Given the description of an element on the screen output the (x, y) to click on. 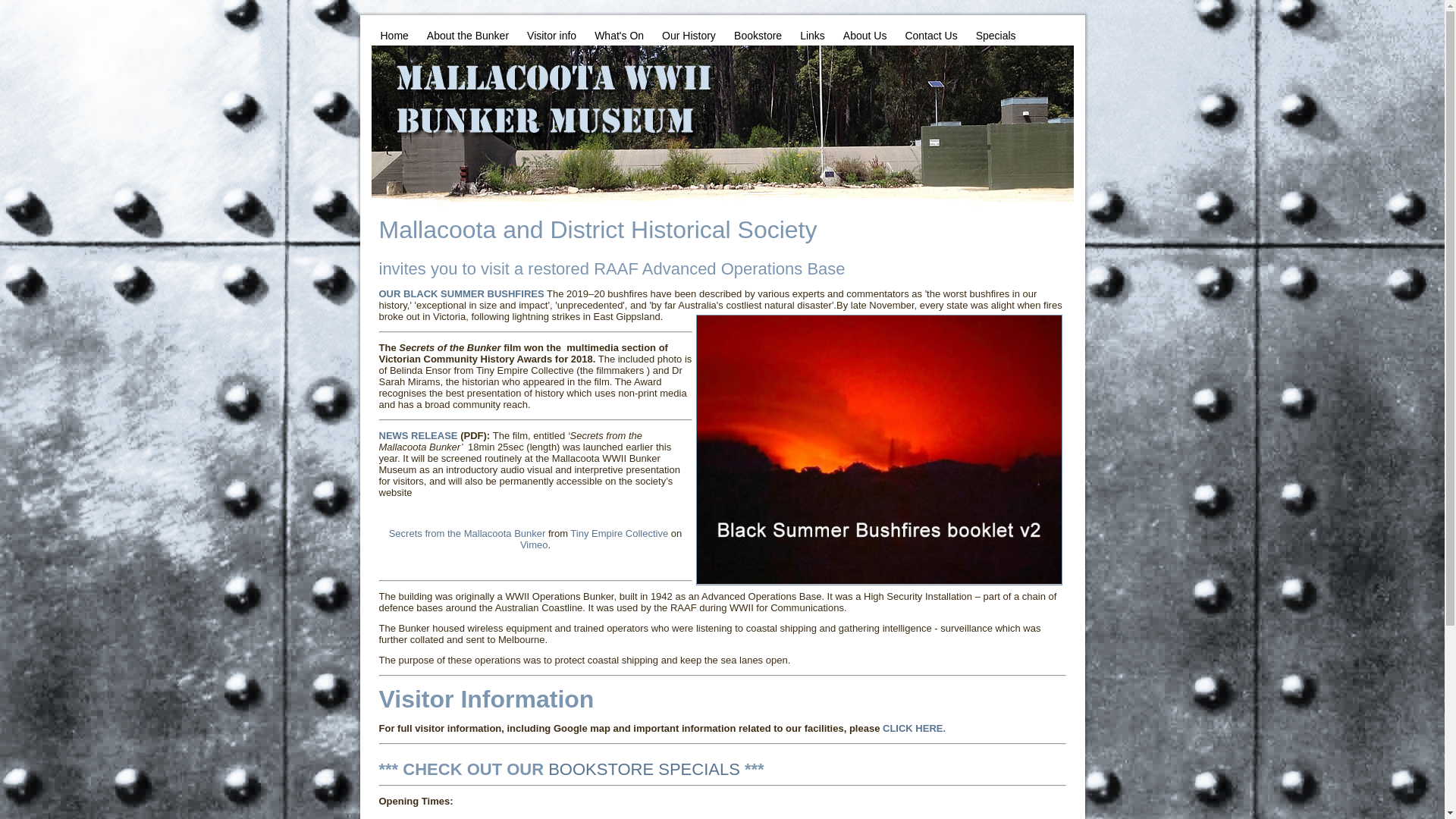
BOOKSTORE SPECIALS Element type: text (644, 768)
What's On Element type: text (618, 35)
Our History Element type: text (688, 35)
NEWS RELEASE Element type: text (418, 435)
Bookstore Element type: text (757, 35)
Vimeo Element type: text (534, 544)
Secrets from the Mallacoota Bunker Element type: text (467, 533)
Home Element type: text (394, 35)
Visitor info Element type: text (551, 35)
Contact Us Element type: text (930, 35)
Tiny Empire Collective Element type: text (619, 533)
Specials Element type: text (995, 35)
About Us Element type: text (865, 35)
OUR BLACK SUMMER BUSHFIRES Element type: text (461, 293)
About the Bunker Element type: text (467, 35)
Links Element type: text (812, 35)
CLICK HERE. Element type: text (913, 728)
